Given the description of an element on the screen output the (x, y) to click on. 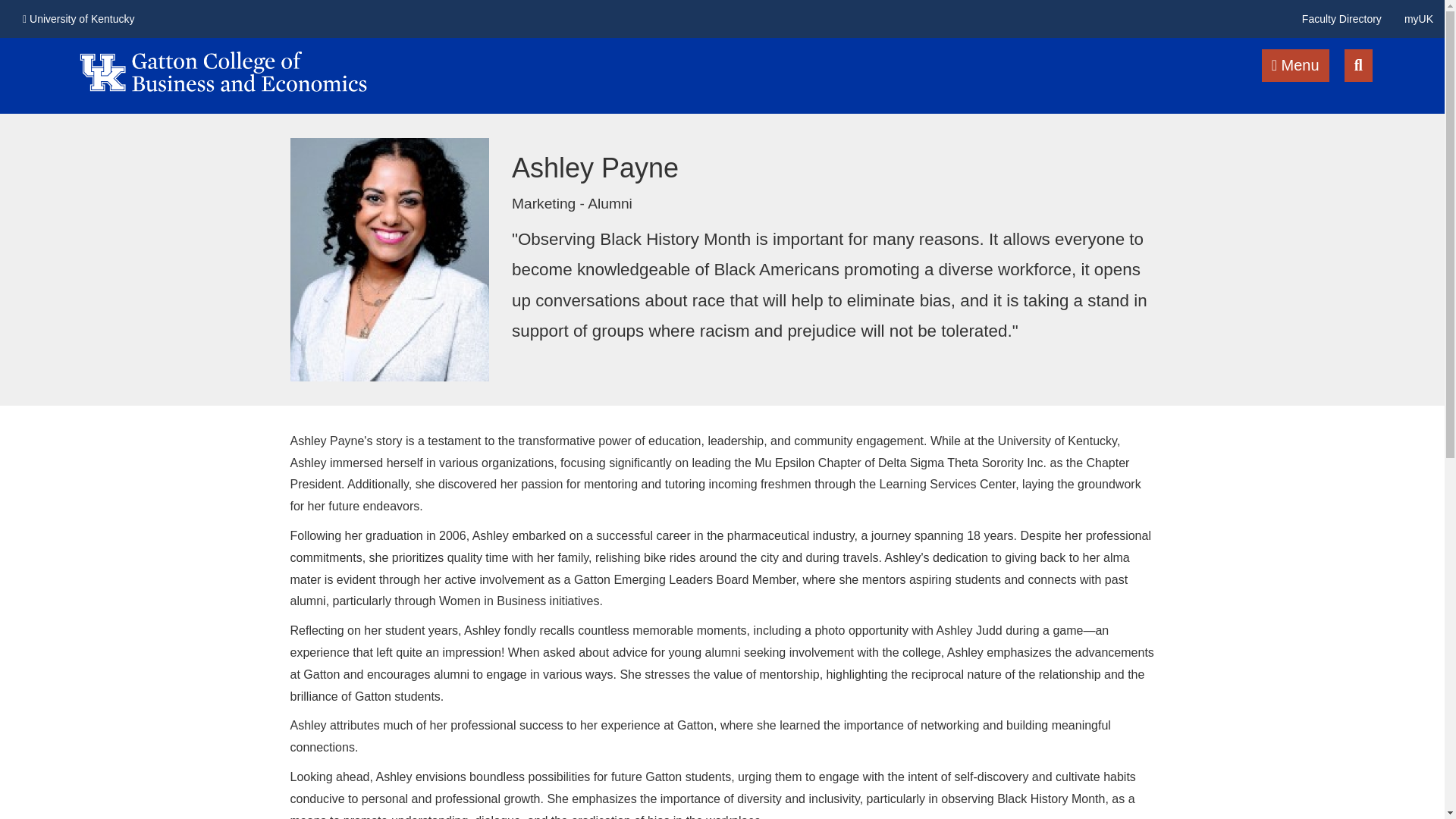
UK Gatton College of Business and Economics (223, 63)
